Given the description of an element on the screen output the (x, y) to click on. 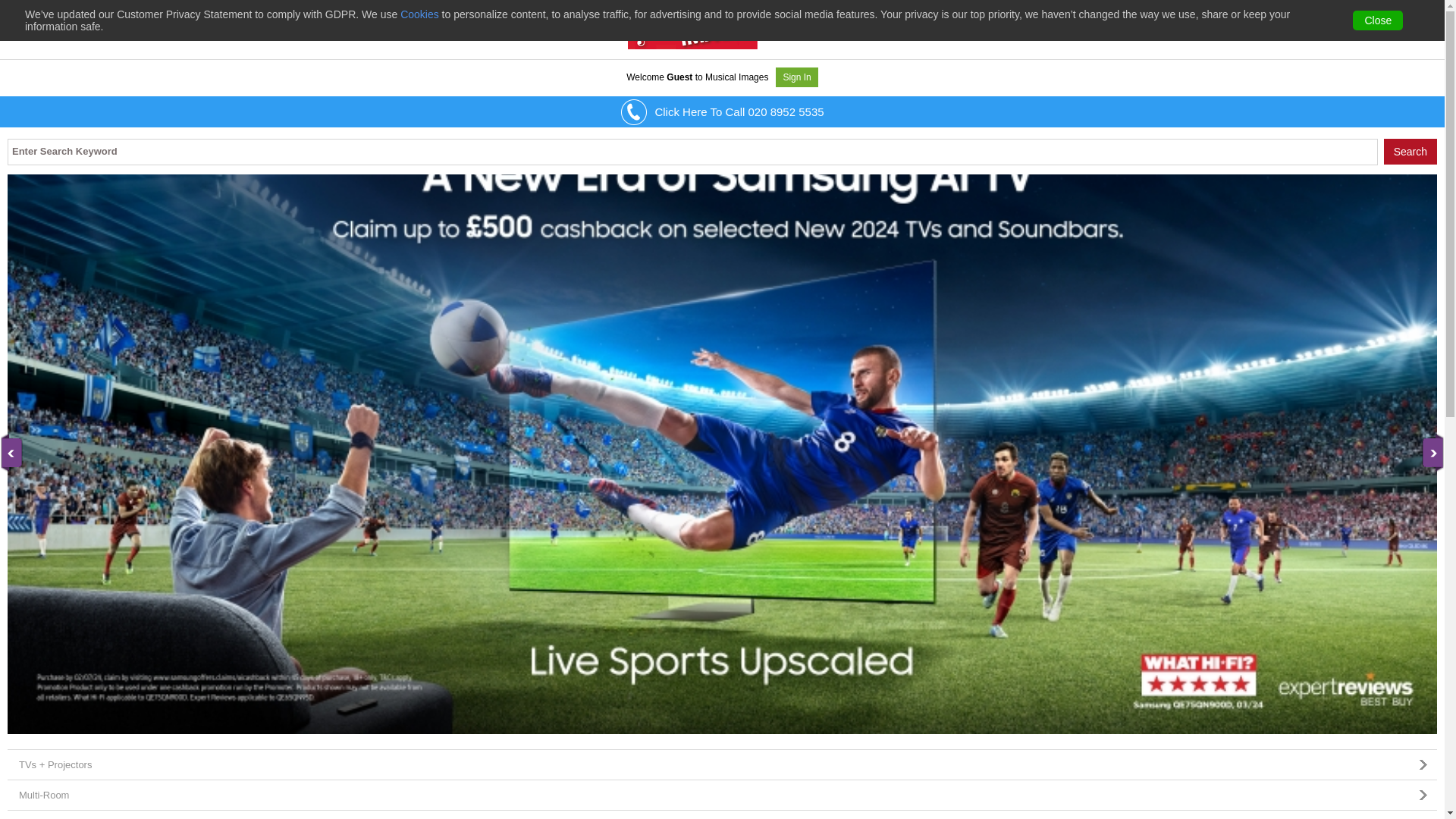
Search (1410, 151)
Enter Search Keyword (692, 151)
Cookies (419, 14)
Sign In (796, 76)
Cookies (419, 14)
Search (1410, 151)
0 (1421, 22)
Close (1377, 20)
Enter Search Keyword (692, 151)
Multi-Room (722, 794)
Search (1410, 151)
Sign In (796, 76)
Click here to view your shopping cart (1421, 22)
